Given the description of an element on the screen output the (x, y) to click on. 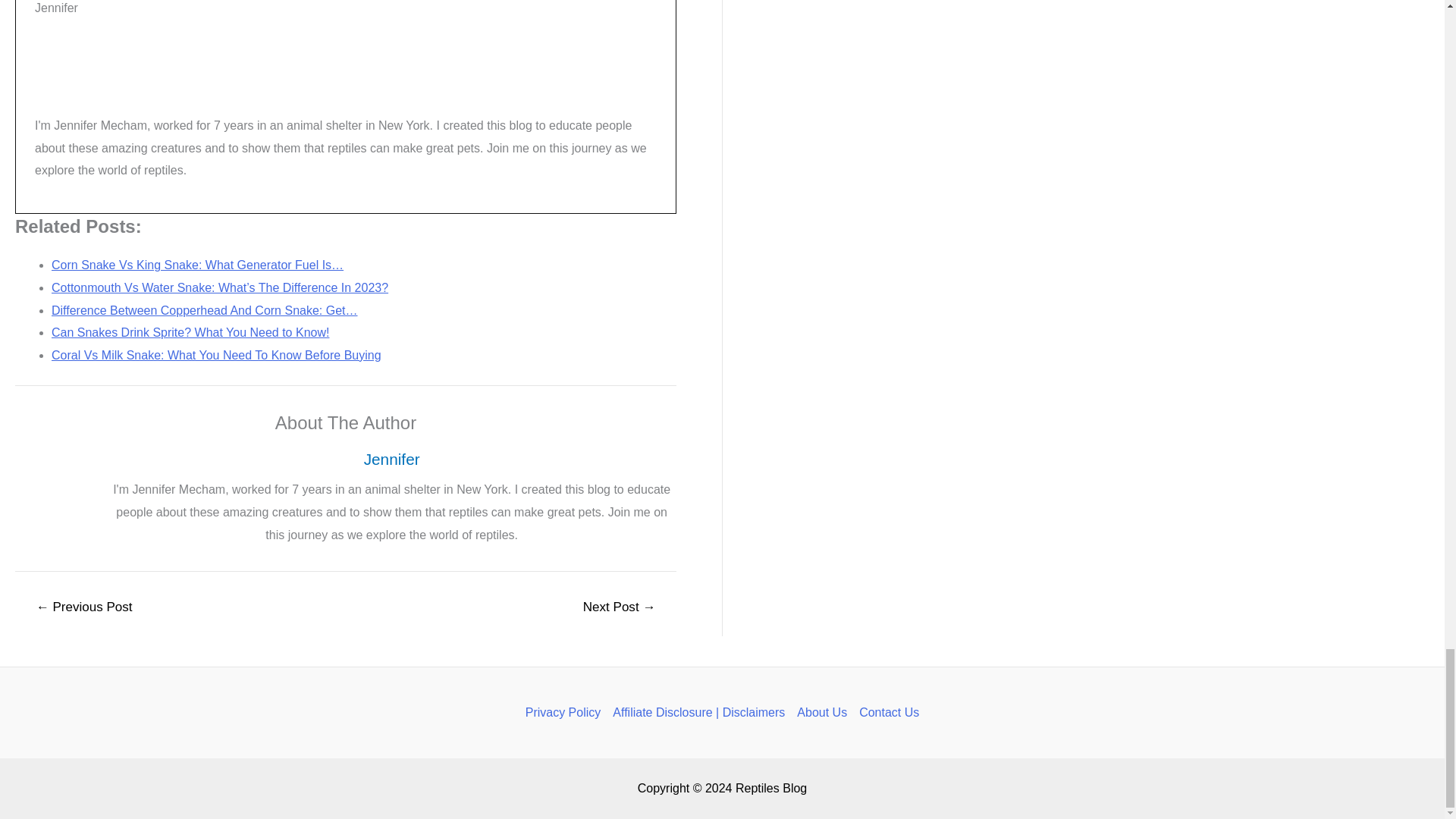
Jennifer (391, 458)
Can Snakes Drink Sprite? What You Need to Know! (189, 332)
Coral Vs Milk Snake: What You Need To Know Before Buying (215, 354)
